Given the description of an element on the screen output the (x, y) to click on. 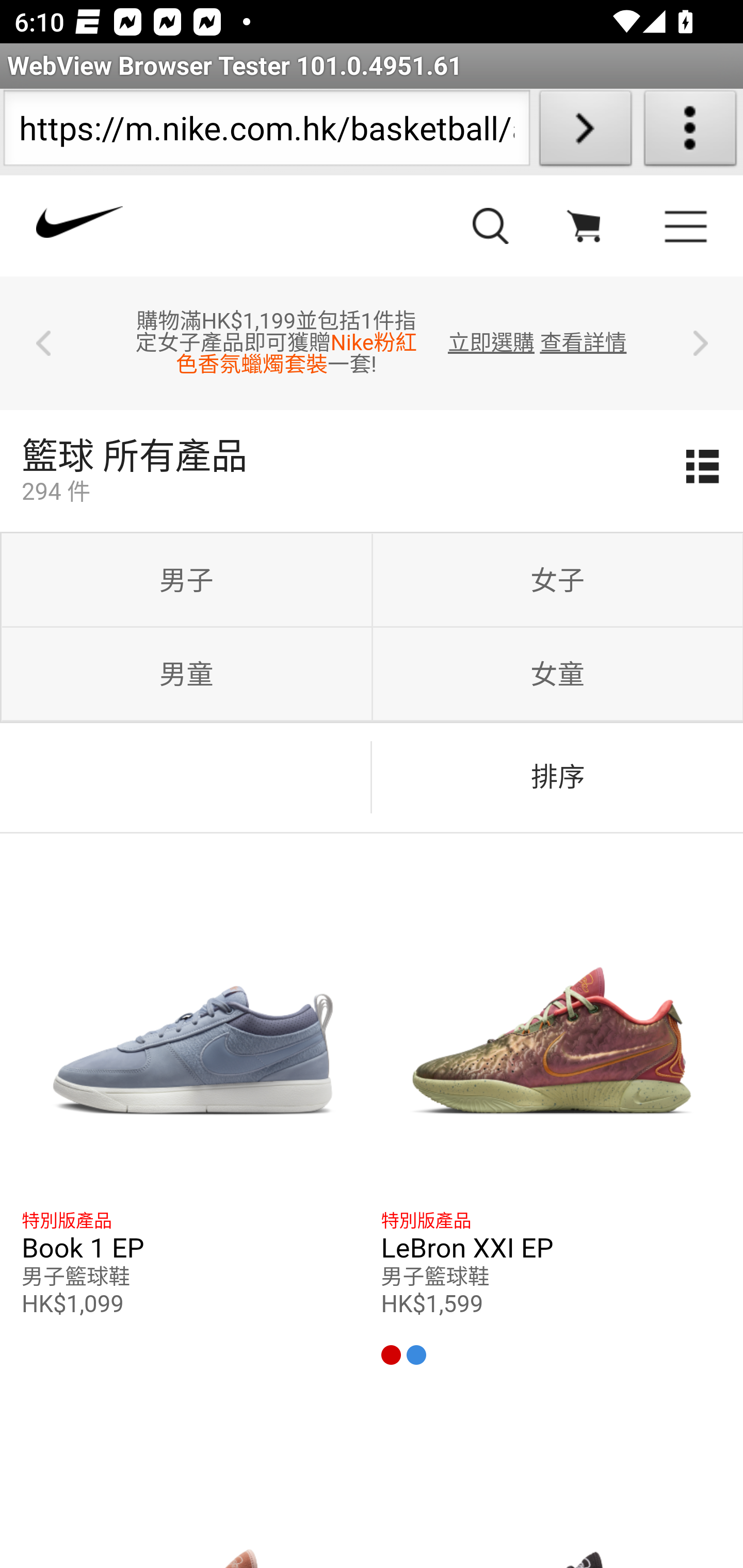
Load URL (585, 132)
About WebView (690, 132)
index (204, 229)
javascript:void(0) (582, 229)
男子 (186, 580)
女子 (557, 580)
男童 (186, 674)
女童 (557, 674)
排序 (557, 776)
FJ4250-400_M1 (192, 1021)
FN0709-800_M1 (550, 1021)
特別版產品 Book 1 EP 男子籃球鞋 特別版產品 Book 1 EP 男子籃球鞋 (192, 1249)
HK$1,099 ?0 HK$1,099 (192, 1316)
HK$1,599 ?0 HK$1,599 (550, 1330)
